Given the description of an element on the screen output the (x, y) to click on. 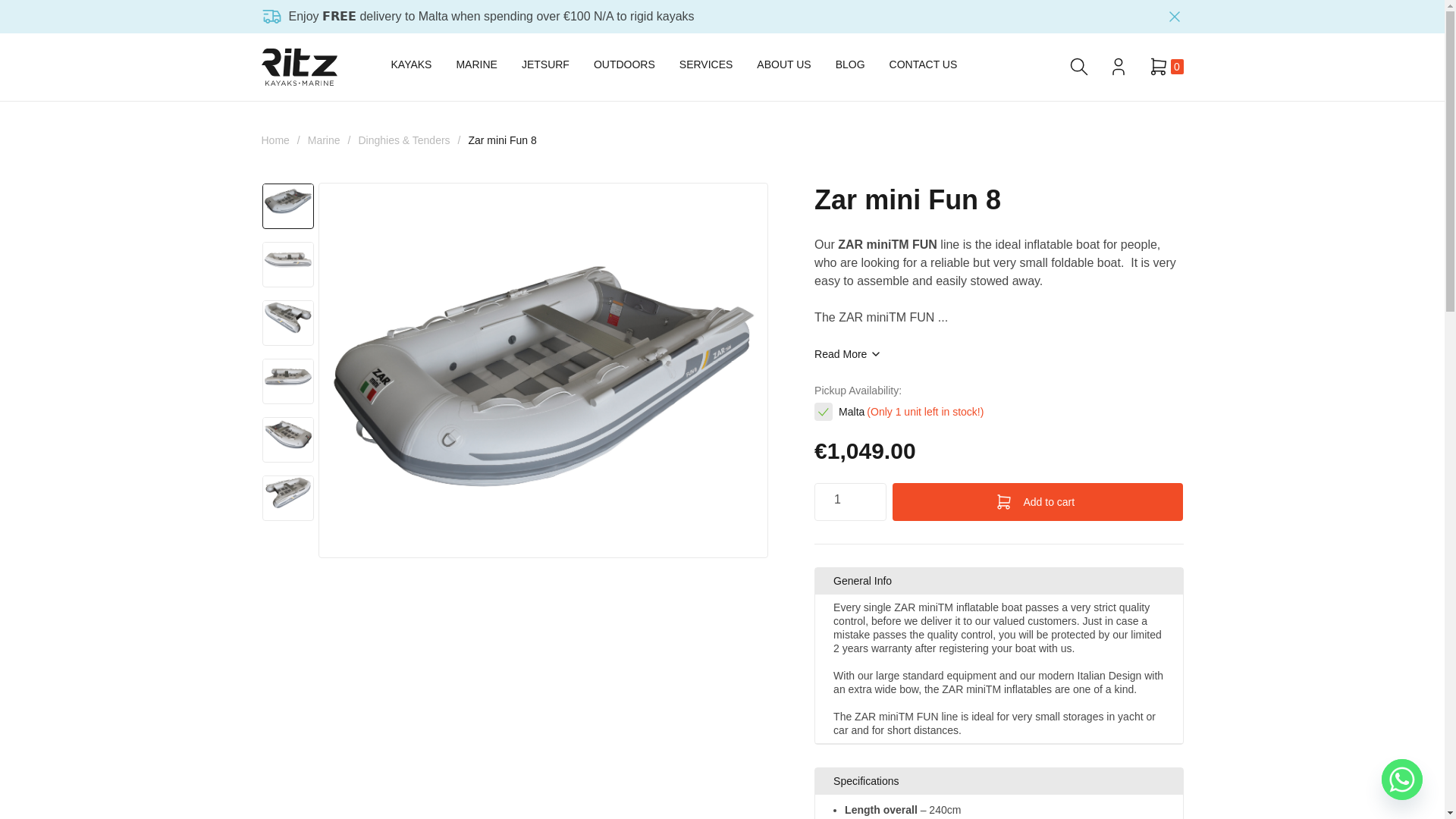
BLOG (849, 66)
OUTDOORS (624, 66)
JETSURF (545, 66)
ABOUT US (783, 66)
0 (1165, 66)
1 (850, 499)
SERVICES (706, 66)
MARINE (475, 66)
CONTACT US (923, 66)
KAYAKS (411, 66)
Qty (850, 499)
